Given the description of an element on the screen output the (x, y) to click on. 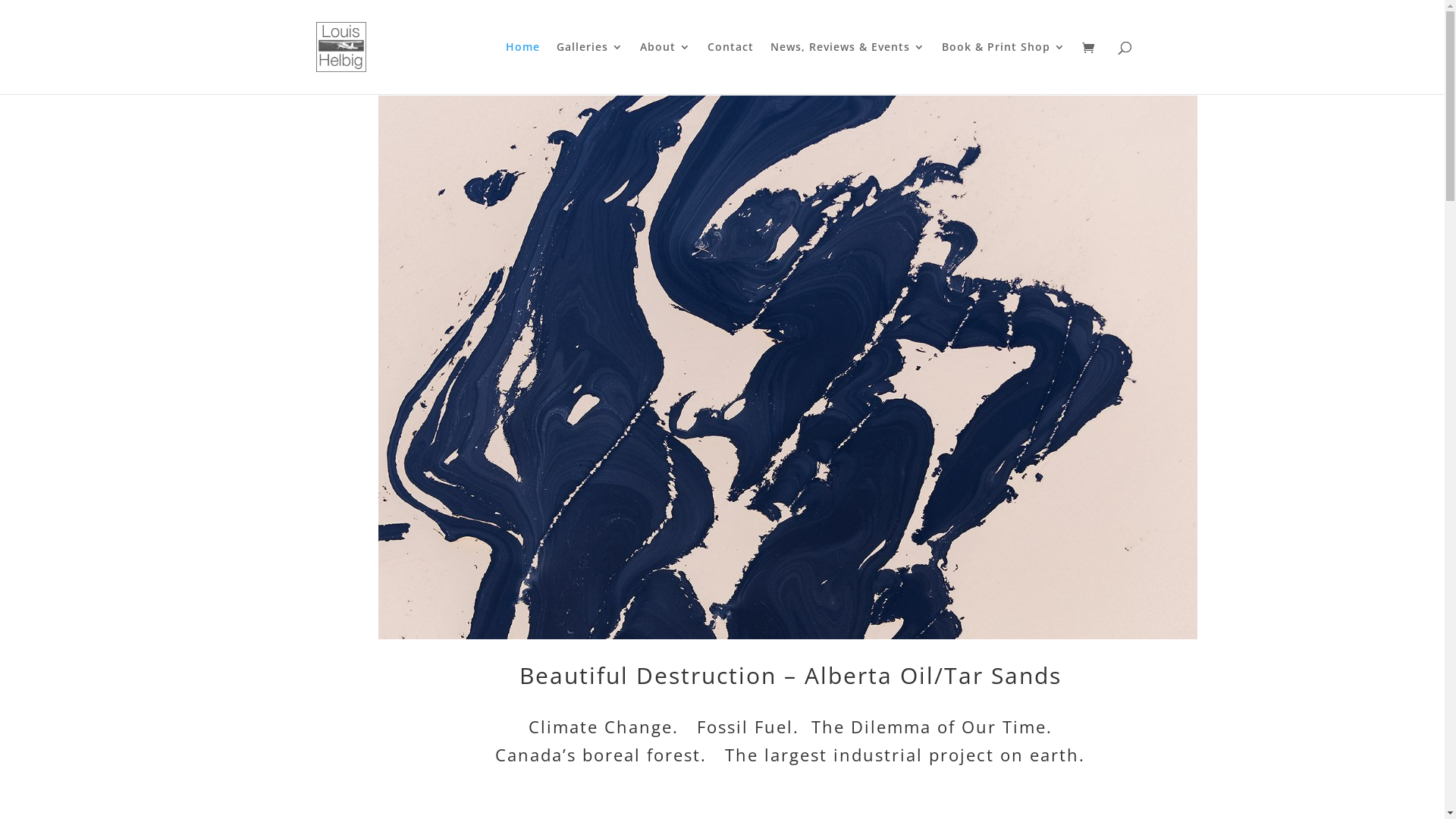
Home Element type: text (522, 67)
Residual Bitumen Element type: hover (787, 367)
News, Reviews & Events Element type: text (847, 67)
Book & Print Shop Element type: text (1003, 67)
Galleries Element type: text (589, 67)
Contact Element type: text (729, 67)
About Element type: text (665, 67)
